Given the description of an element on the screen output the (x, y) to click on. 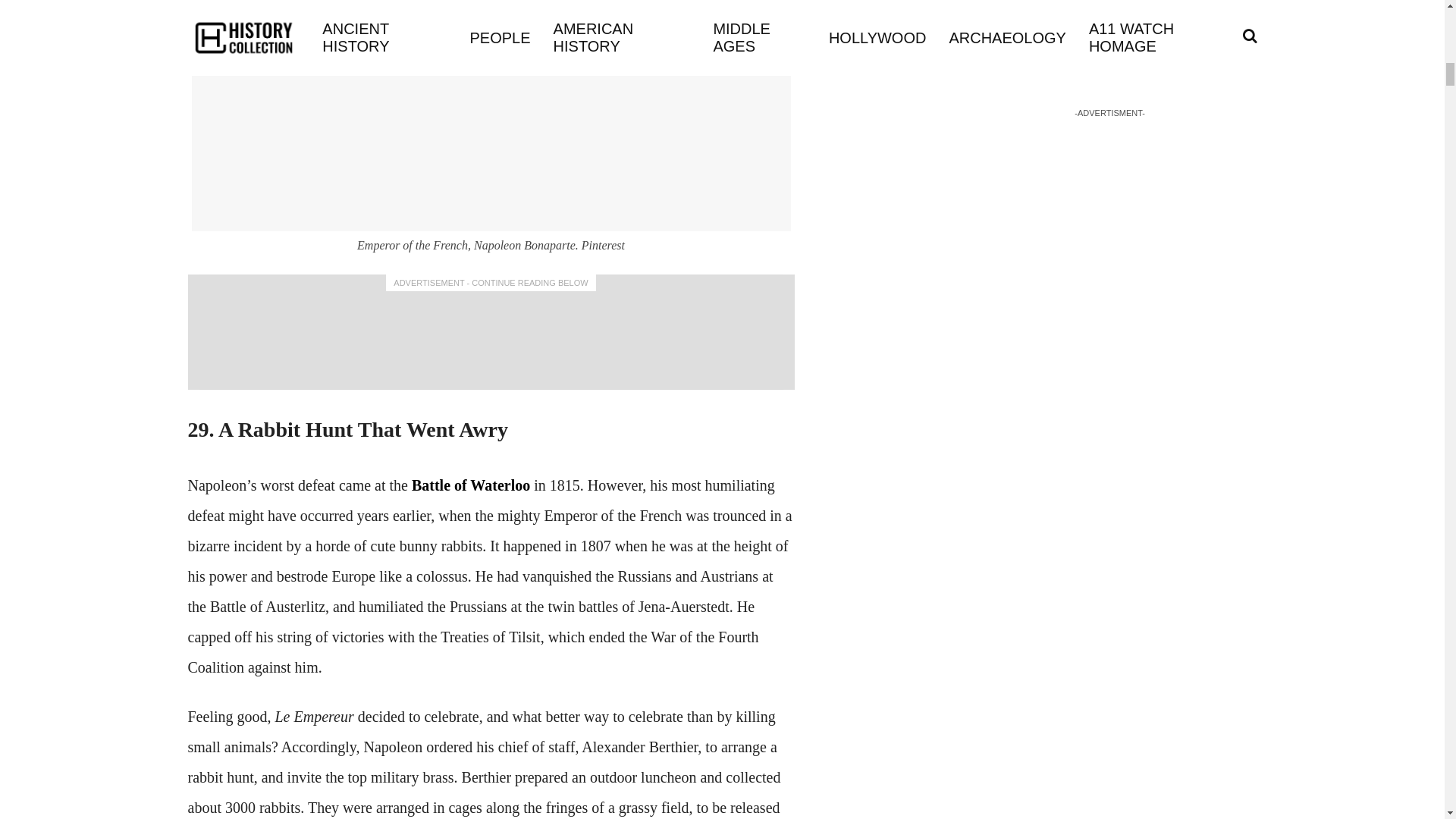
Battle of Waterloo (470, 484)
